Given the description of an element on the screen output the (x, y) to click on. 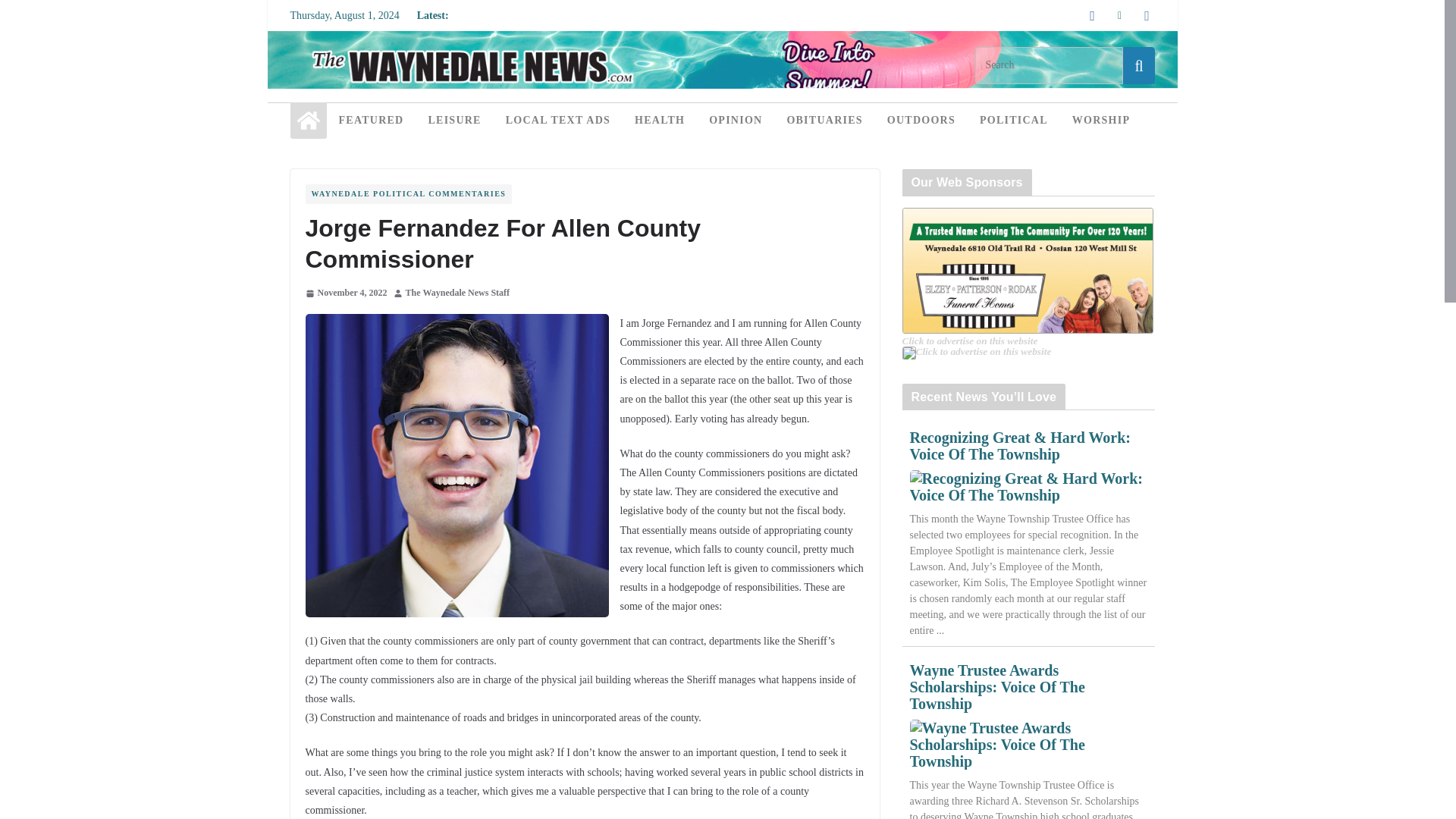
November 4, 2022 (345, 293)
OBITUARIES (823, 120)
The Waynedale News Staff (457, 293)
12:01 am (345, 293)
The Waynedale News Staff (457, 293)
OUTDOORS (920, 120)
The Waynedale News (307, 120)
LOCAL TEXT ADS (557, 120)
HEALTH (659, 120)
OPINION (735, 120)
FEATURED (370, 120)
POLITICAL (1013, 120)
LEISURE (454, 120)
Wayne Trustee Awards Scholarships: Voice Of The Township (1028, 744)
The Waynedale News (721, 41)
